Given the description of an element on the screen output the (x, y) to click on. 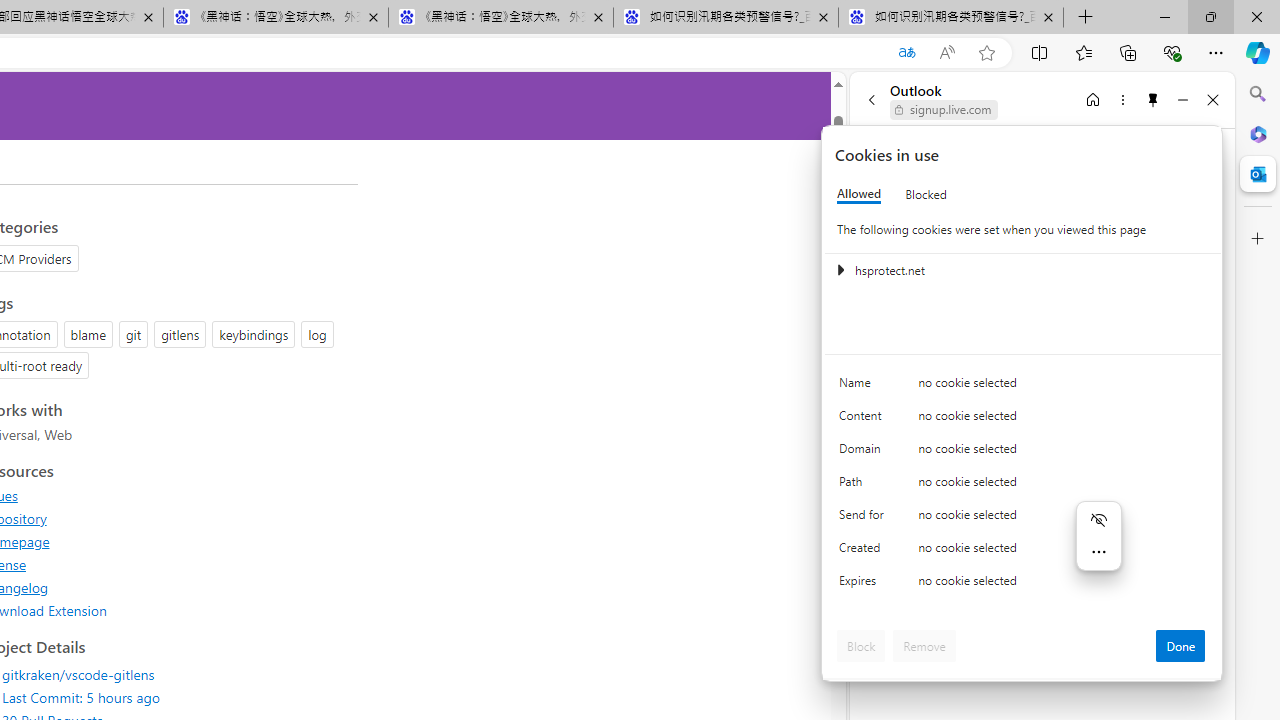
Done (1179, 645)
Mini menu on text selection (1098, 548)
Expires (864, 585)
Hide menu (1098, 519)
